Given the description of an element on the screen output the (x, y) to click on. 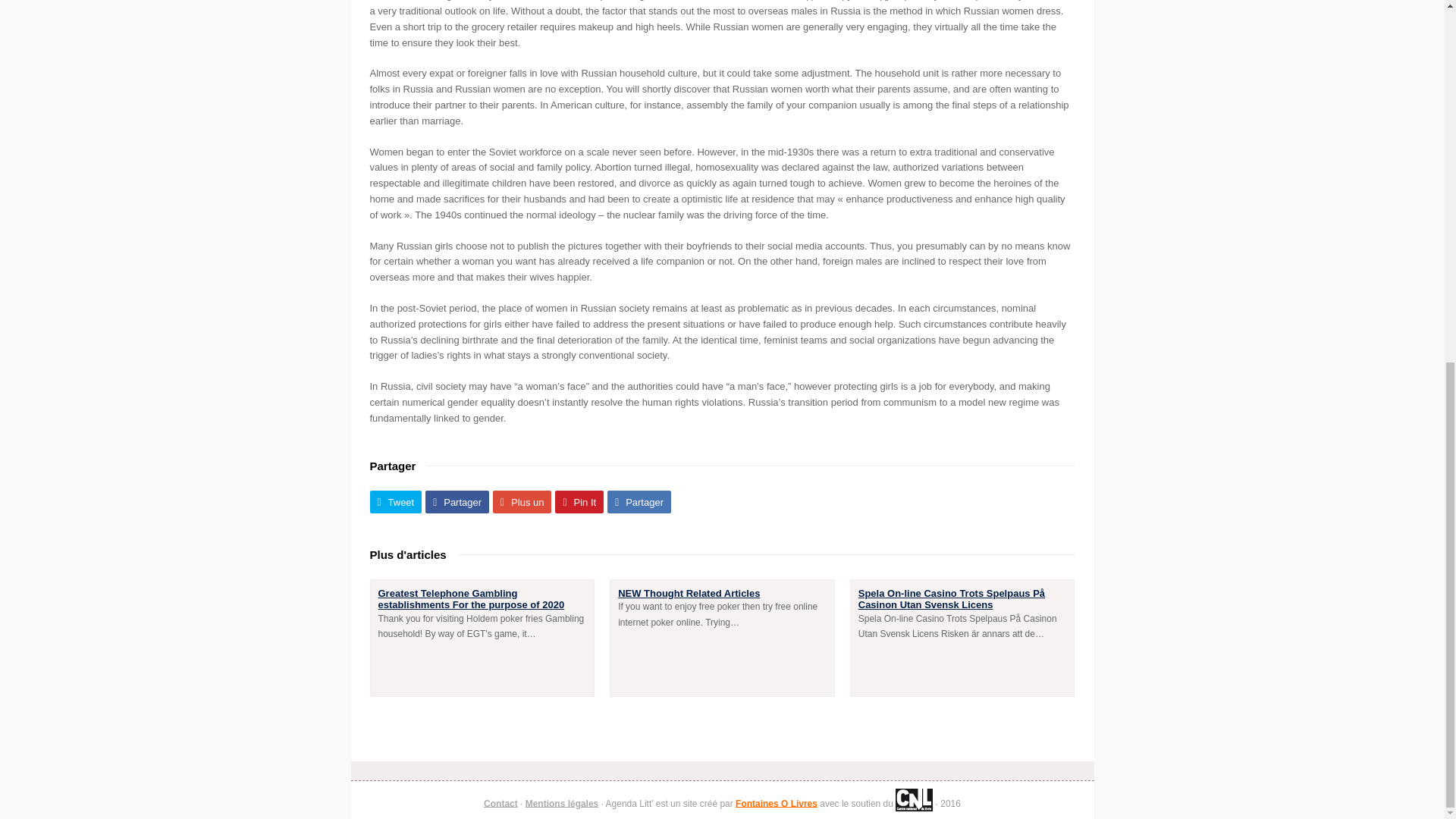
Partager sur Twitter (395, 501)
Contact (500, 802)
Partager sur Facebook (457, 501)
Partager (457, 501)
Fontaines O Livres (775, 802)
Partager sur Linkedin (639, 501)
Partager (639, 501)
NEW Thought Related Articles (688, 593)
Tweet (395, 501)
NEW Thought Related Articles (688, 593)
Partager sur Pinterest (579, 501)
Plus un (522, 501)
Pin It (579, 501)
